Given the description of an element on the screen output the (x, y) to click on. 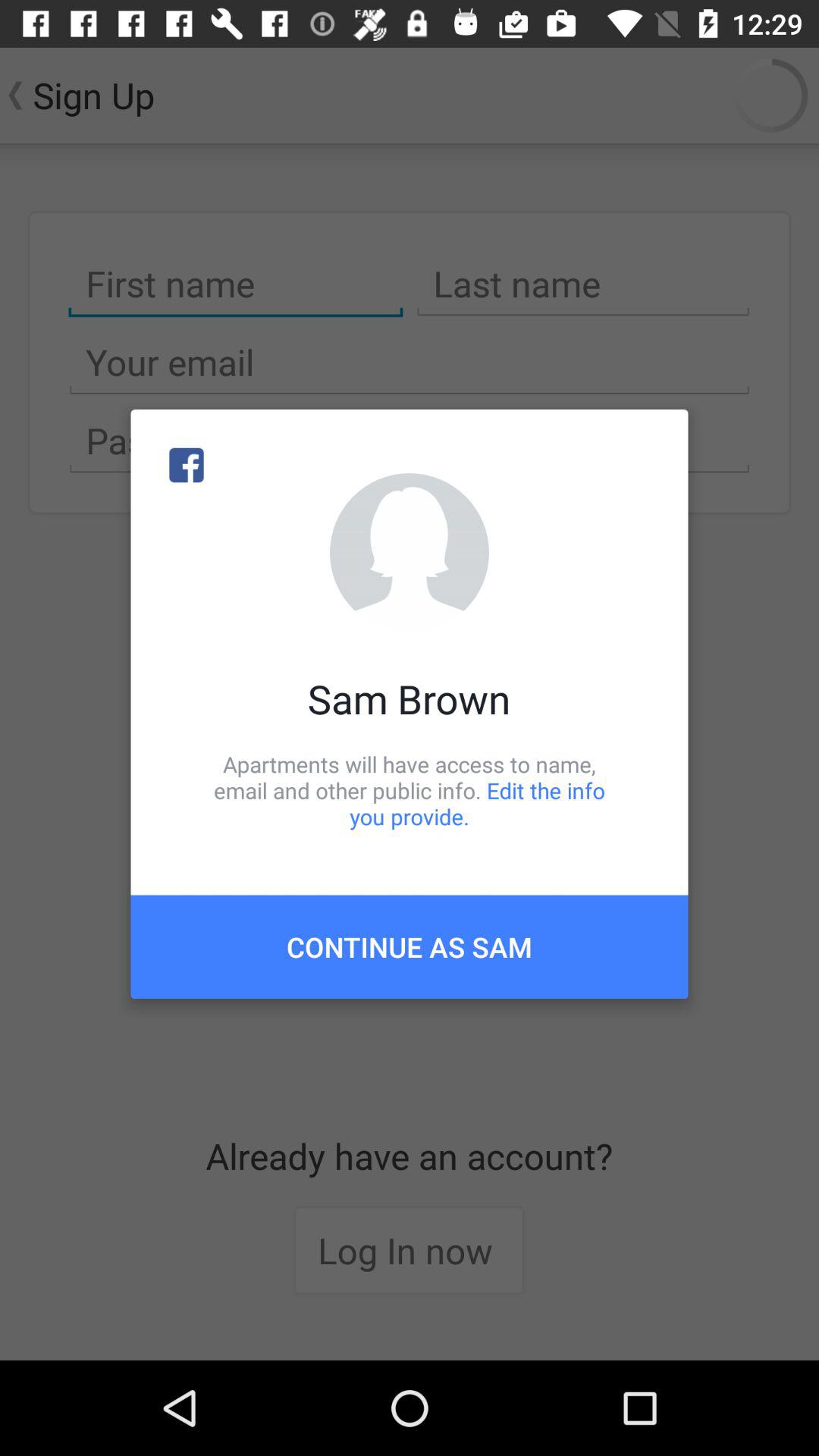
choose the item below the sam brown (409, 790)
